Given the description of an element on the screen output the (x, y) to click on. 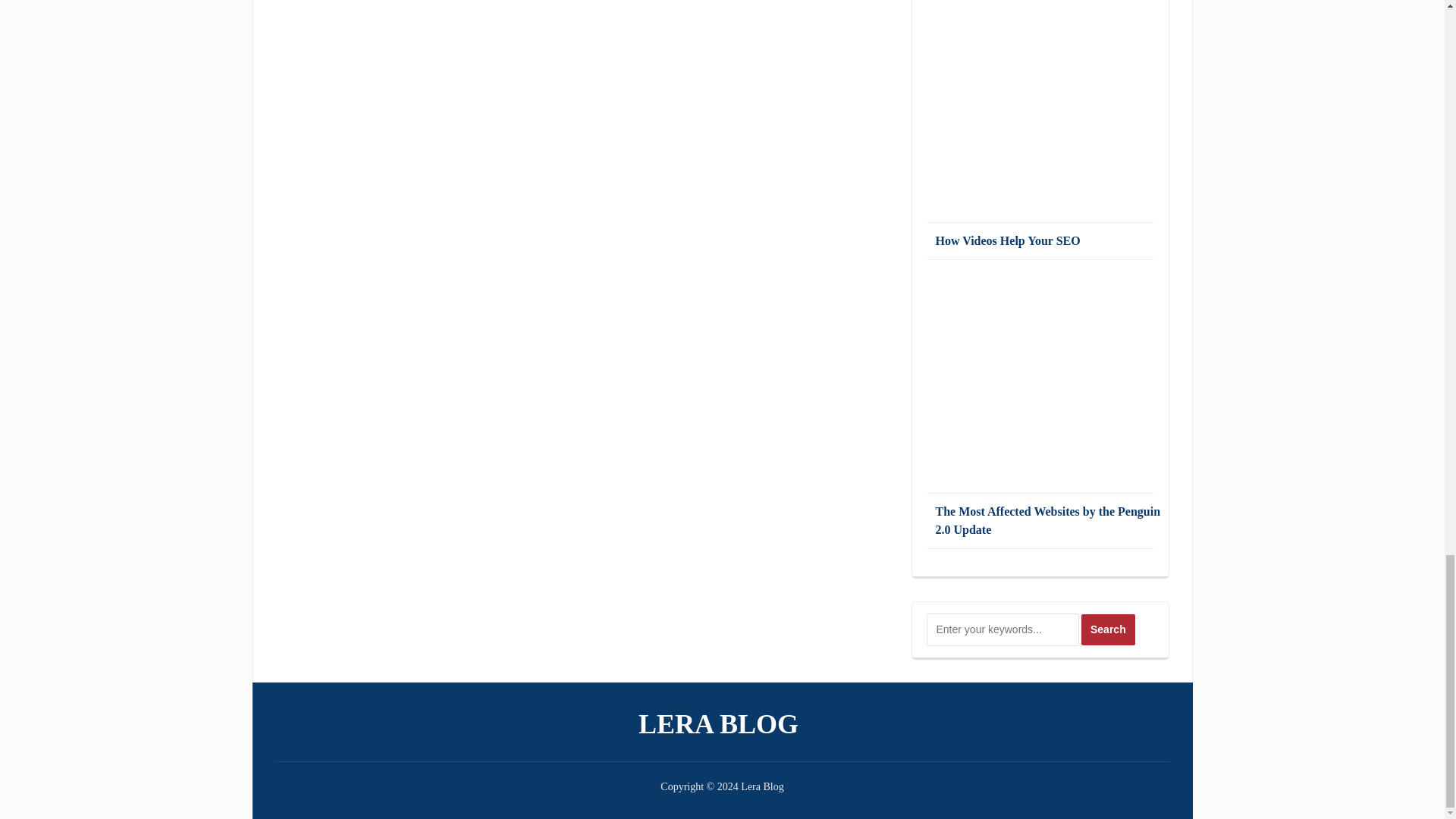
Search (1108, 629)
Search (1108, 629)
